Given the description of an element on the screen output the (x, y) to click on. 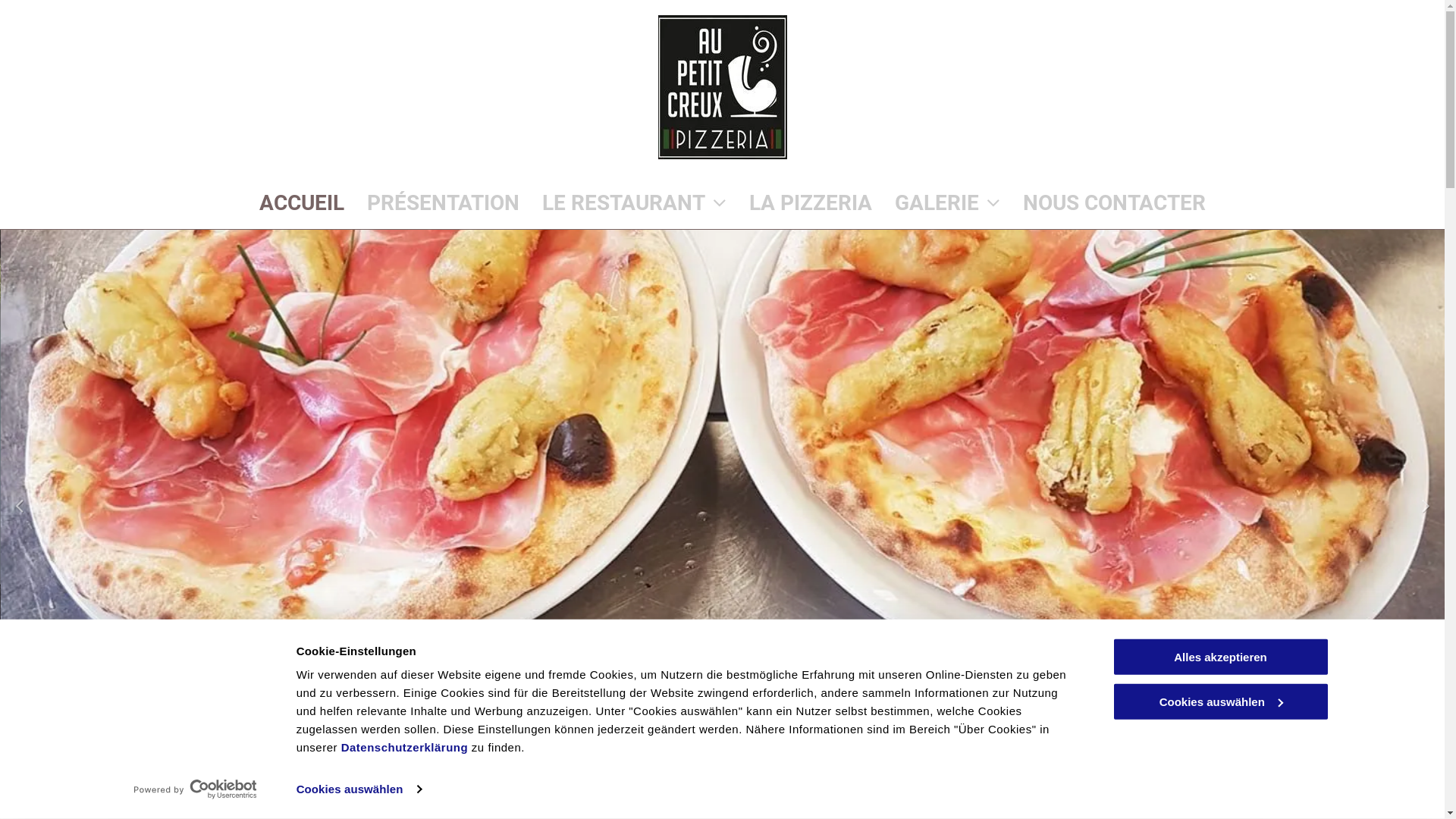
ACCUEIL Element type: text (290, 203)
NOUS CONTACTER Element type: text (1102, 203)
Alles akzeptieren Element type: text (1219, 656)
LE RESTAURANT Element type: text (622, 203)
LA PIZZERIA Element type: text (799, 203)
GALERIE Element type: text (936, 203)
